Given the description of an element on the screen output the (x, y) to click on. 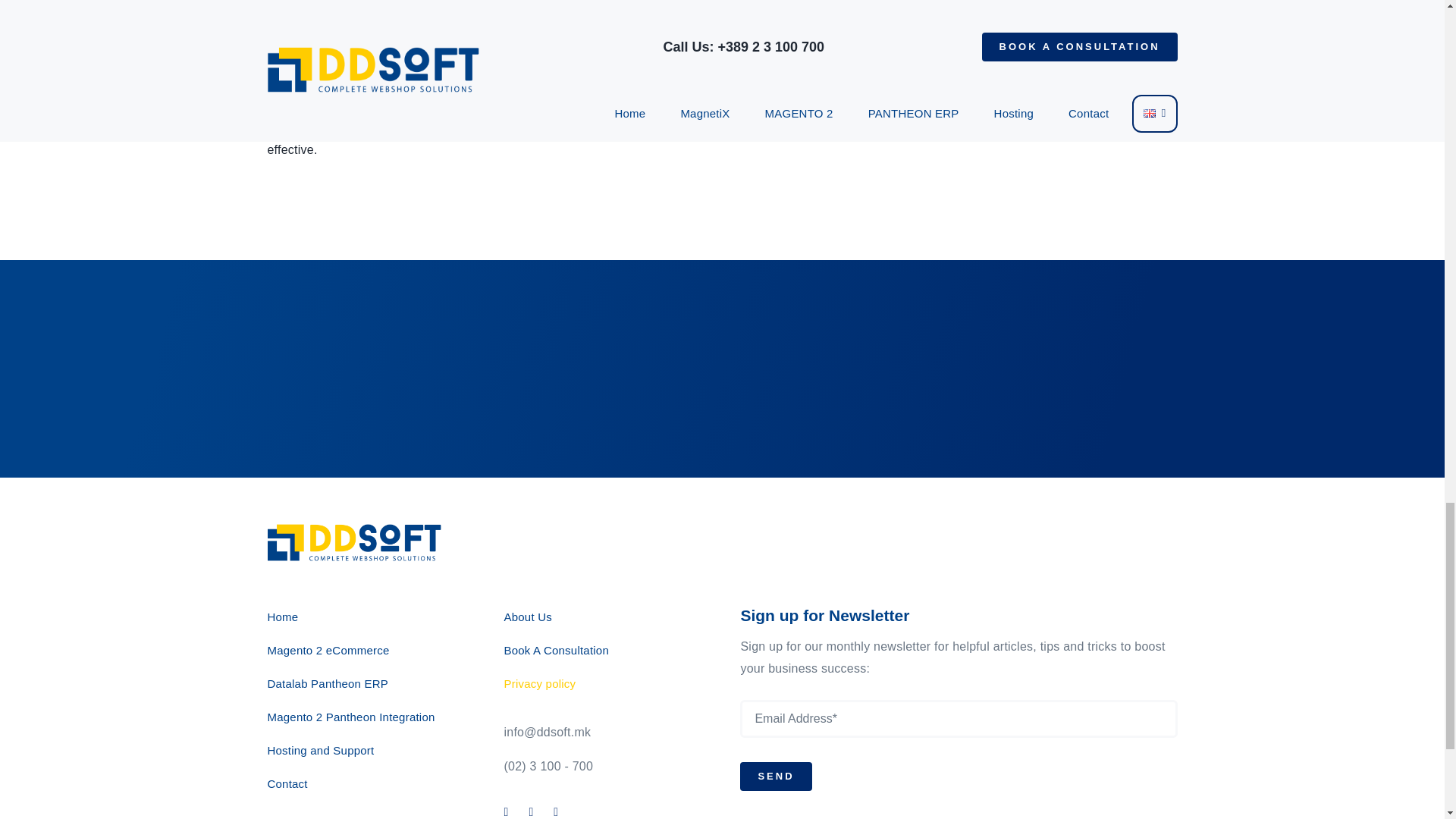
Home (366, 616)
Datalab Pantheon ERP (366, 683)
About Us (603, 616)
Magento 2 Pantheon Integration (366, 716)
Book A Consultation (603, 649)
Magento 2 eCommerce (366, 649)
Hosting and Support (366, 750)
SEND (774, 776)
Privacy policy (603, 683)
SEND (957, 752)
